Given the description of an element on the screen output the (x, y) to click on. 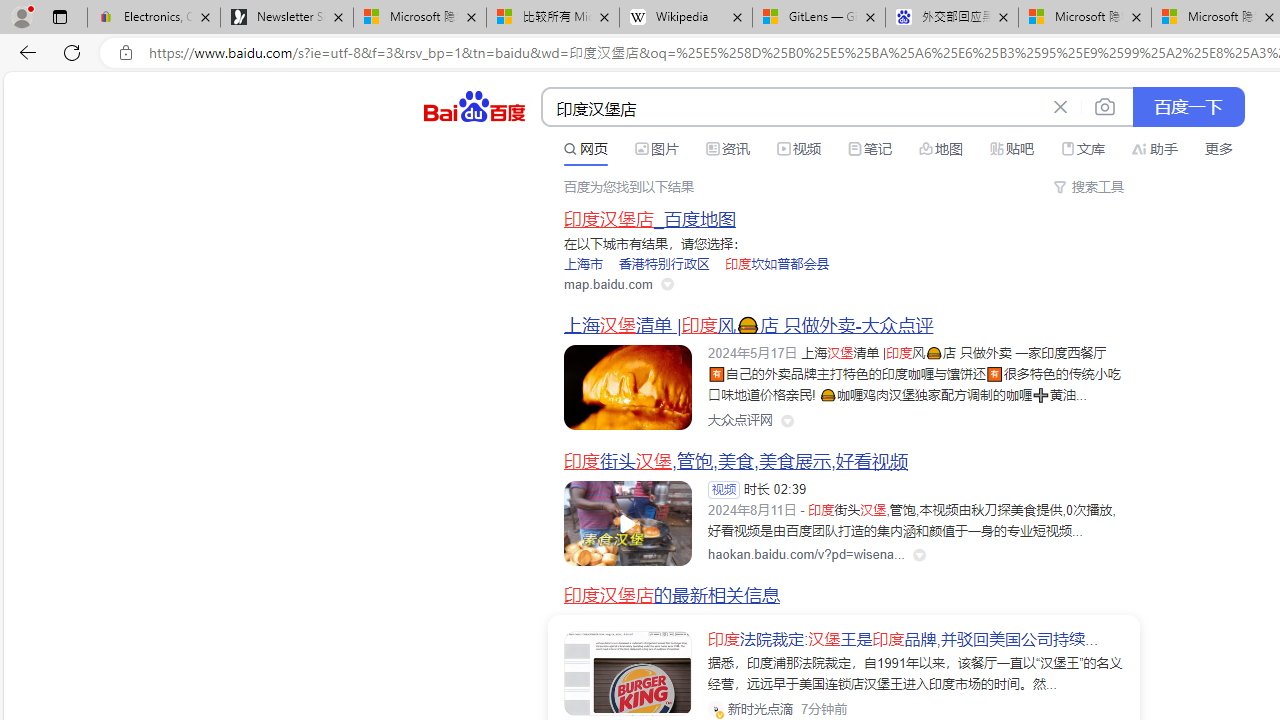
Class: siteLink_9TPP3 (740, 421)
